Given the description of an element on the screen output the (x, y) to click on. 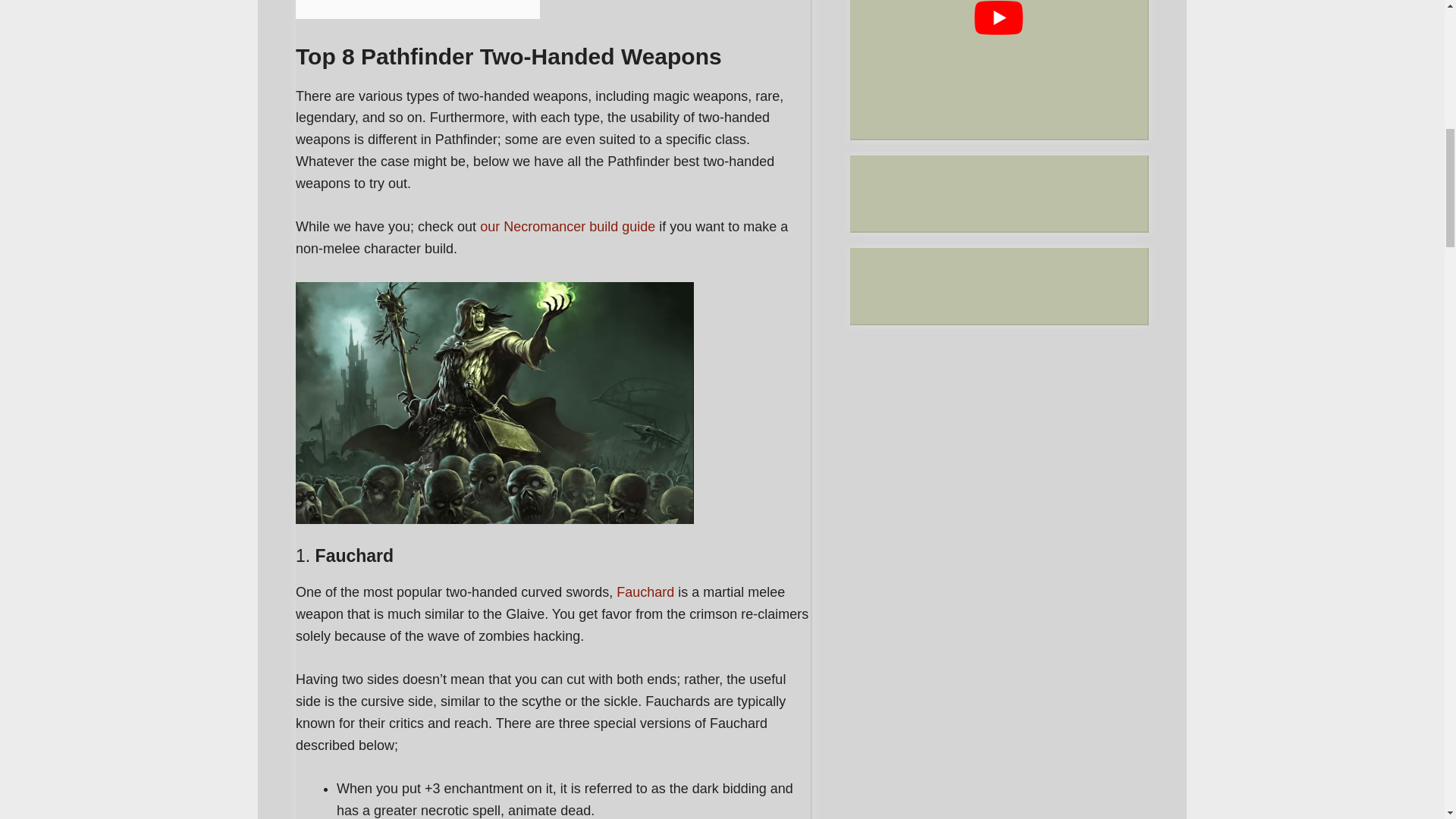
Final Verdict (342, 0)
Fauchard (644, 591)
our Necromancer build guide (569, 226)
